Given the description of an element on the screen output the (x, y) to click on. 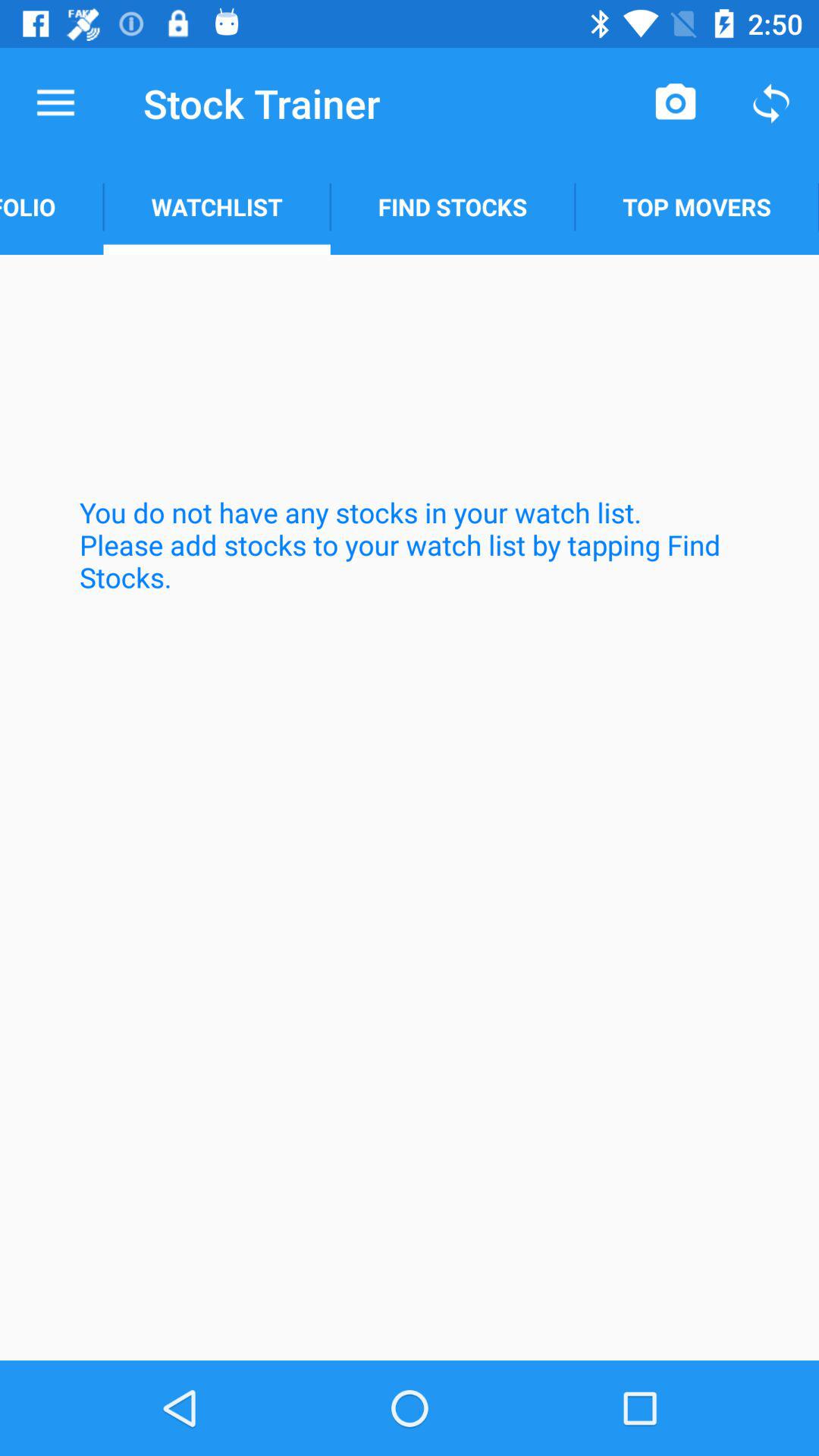
turn on icon above the top movers (675, 103)
